Given the description of an element on the screen output the (x, y) to click on. 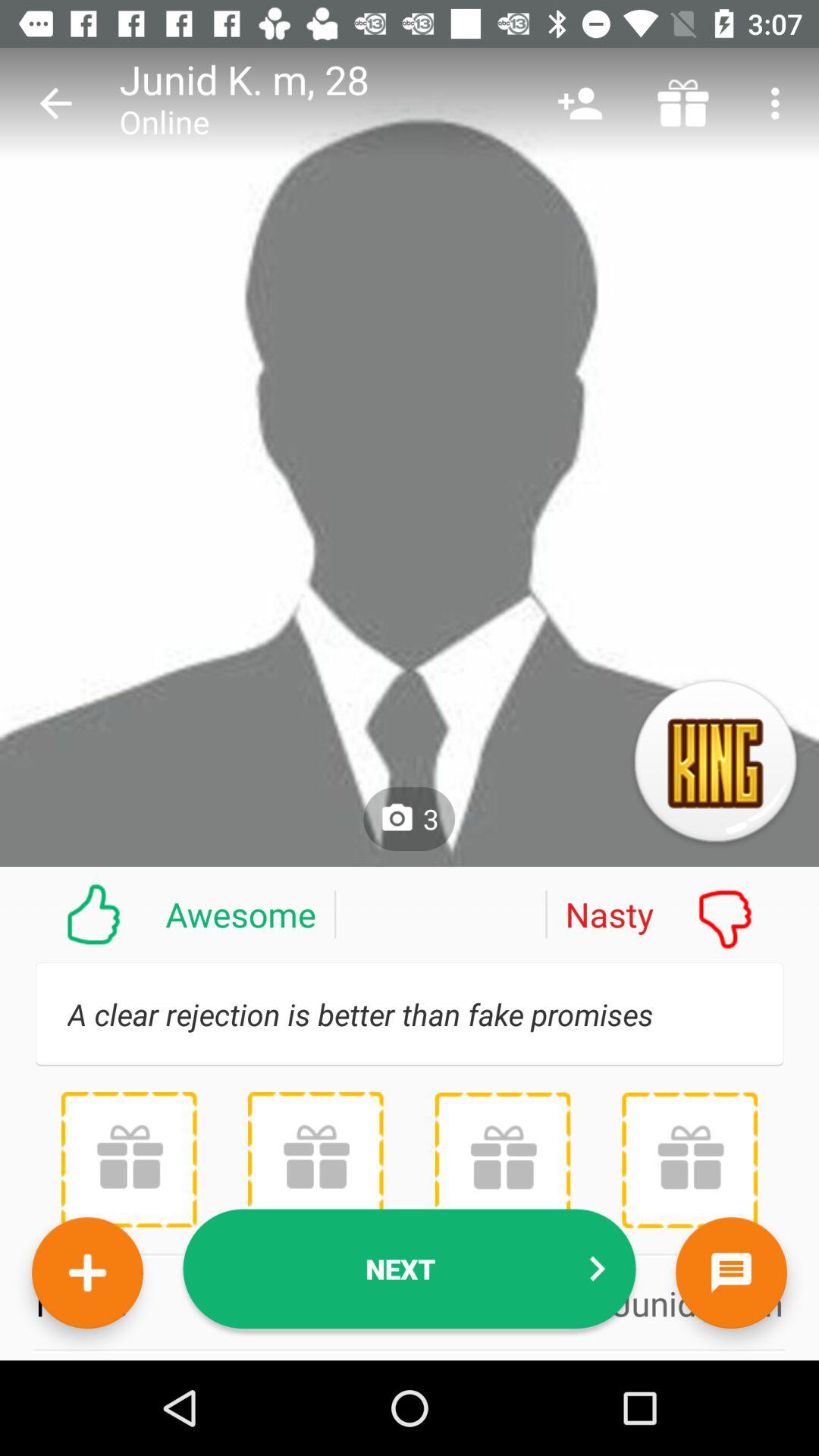
give a gift to the user (128, 1159)
